Given the description of an element on the screen output the (x, y) to click on. 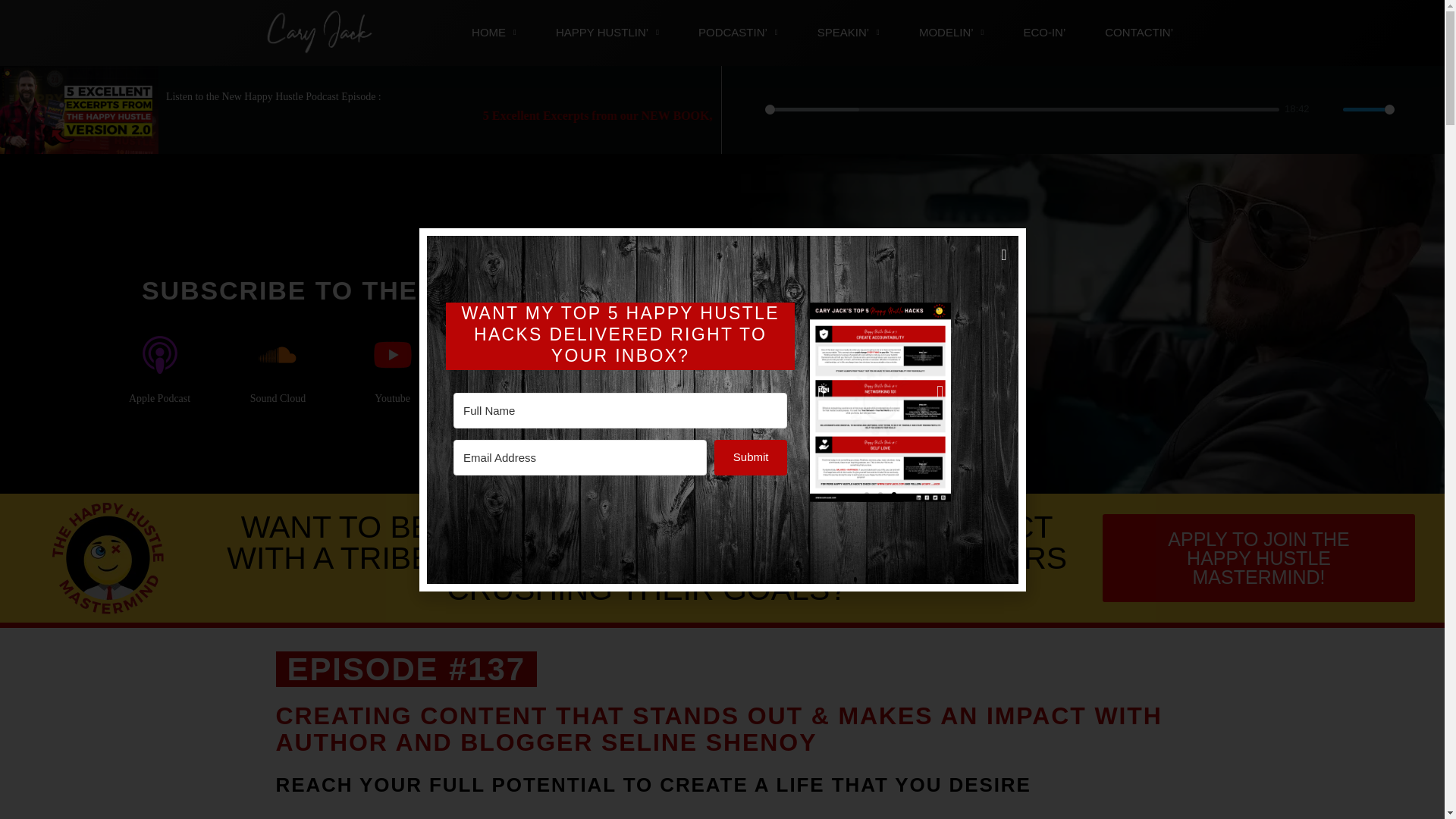
caryjack-icon-stitcher-1 (508, 354)
HOME (493, 32)
0 (1021, 109)
caryjack-icon-souncloud-1 (278, 354)
1 (1368, 109)
caryjack-icon-youtube-1 (393, 354)
caryjack-icon-applepodcast-1 (160, 354)
caryjack-icon-spotify-1 (618, 354)
